Given the description of an element on the screen output the (x, y) to click on. 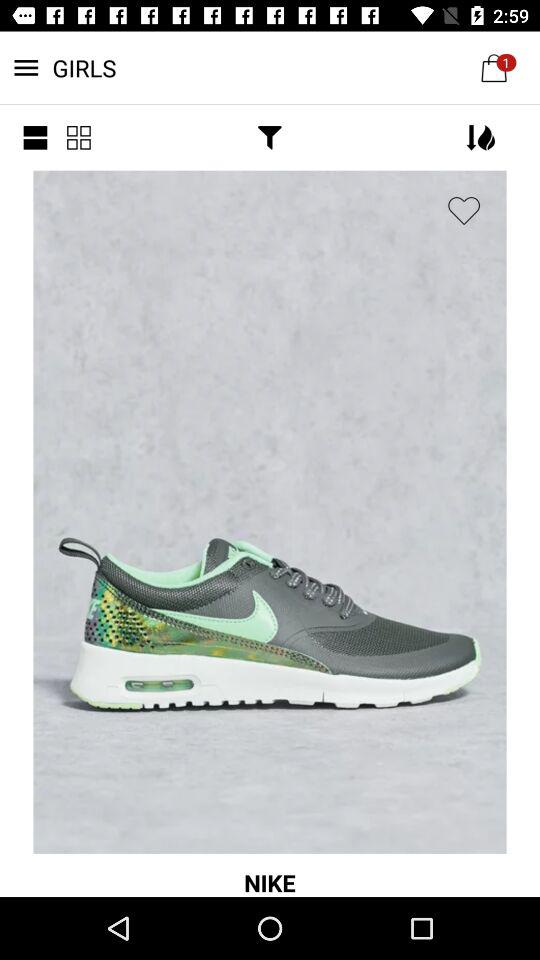
open the item to the left of the girls item (35, 137)
